Given the description of an element on the screen output the (x, y) to click on. 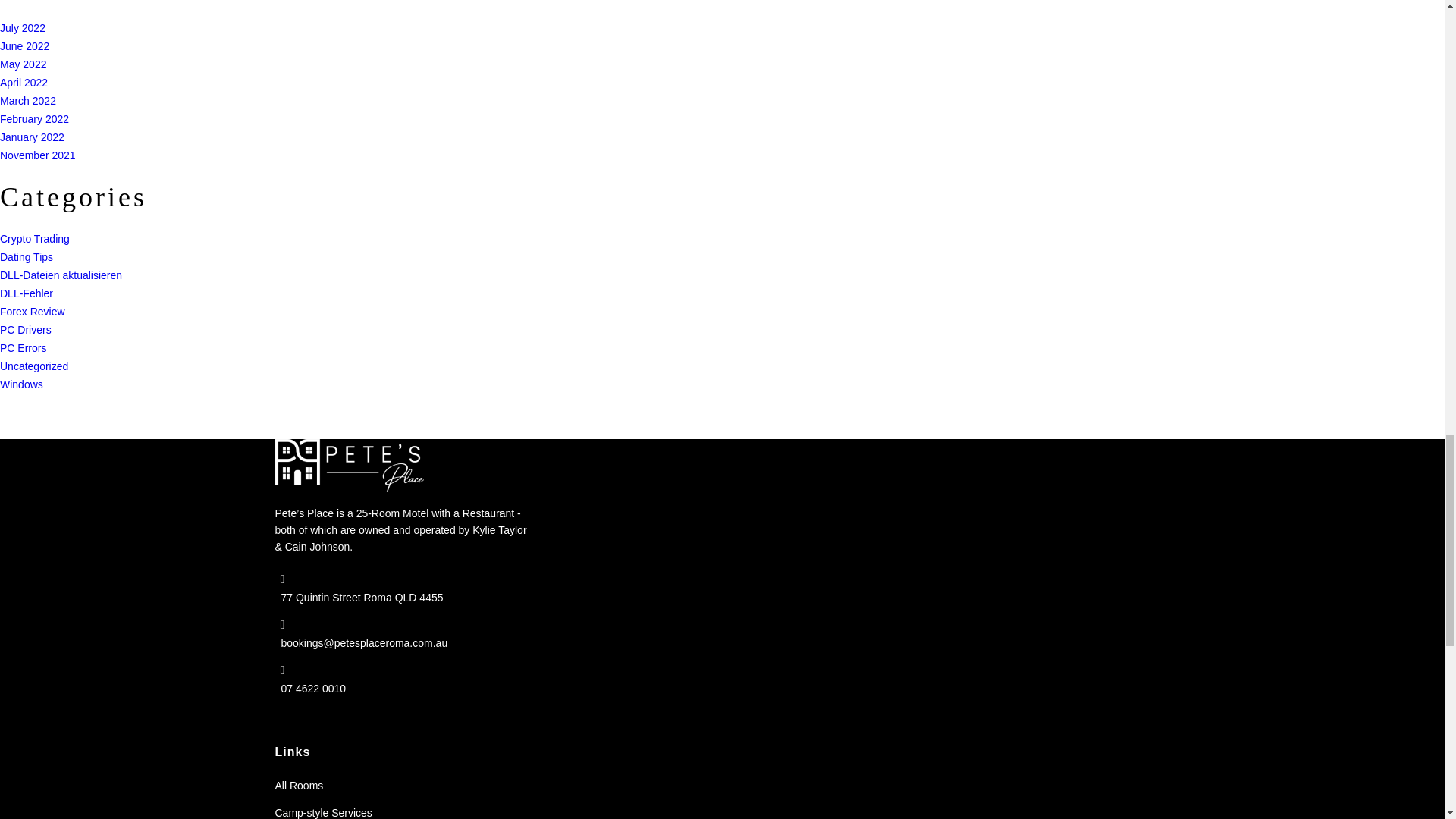
Dating Tips (26, 256)
PC Errors (23, 347)
May 2022 (23, 64)
March 2022 (28, 100)
February 2022 (34, 119)
April 2022 (24, 82)
June 2022 (24, 46)
Crypto Trading (34, 238)
November 2021 (37, 155)
Forex Review (32, 311)
July 2022 (22, 28)
PC Drivers (25, 329)
January 2022 (32, 137)
DLL-Dateien aktualisieren (61, 274)
DLL-Fehler (26, 293)
